Given the description of an element on the screen output the (x, y) to click on. 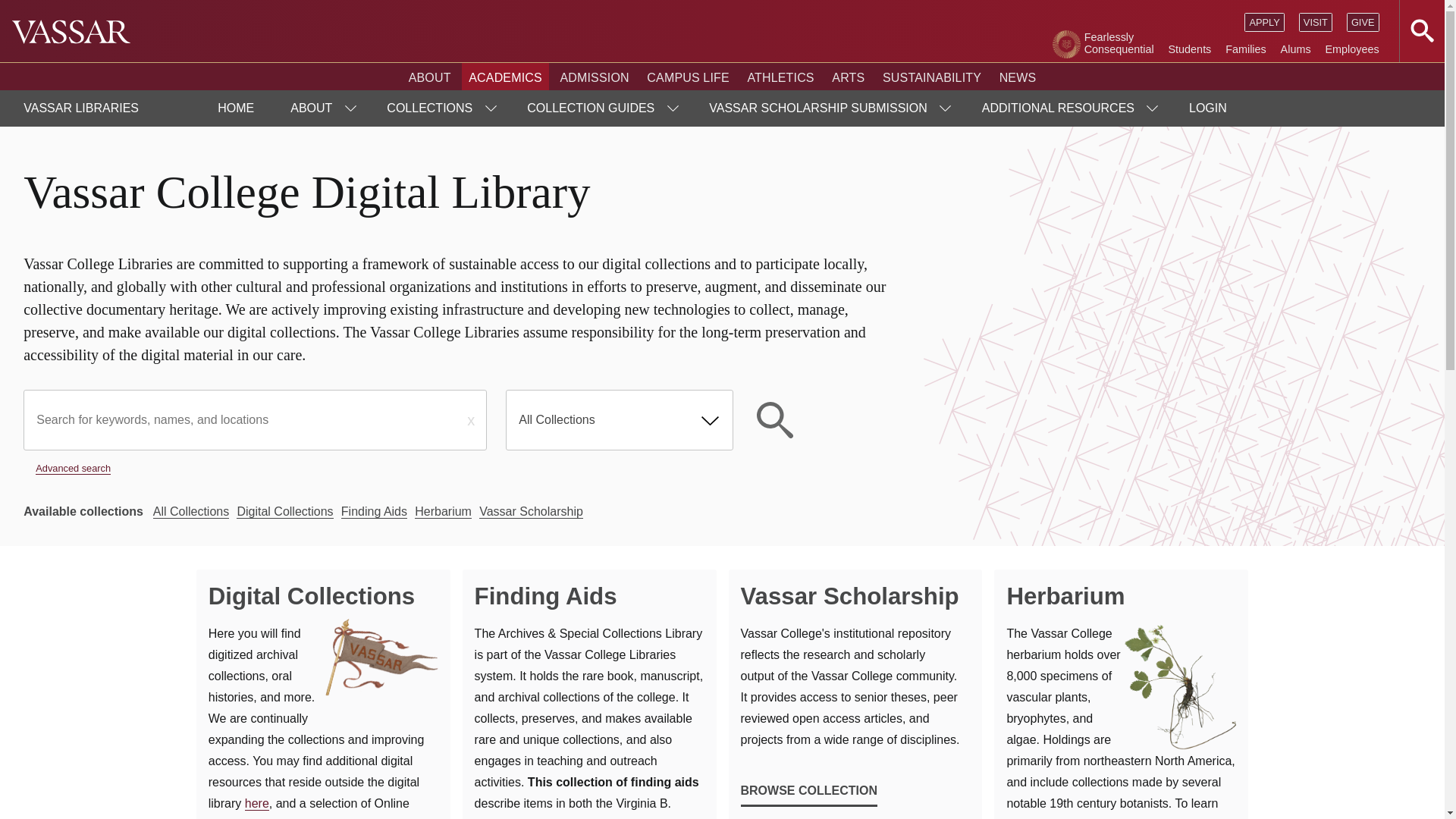
LOGIN (1207, 108)
Digital Collections (323, 595)
x (470, 419)
IR Submission Docs and Form (826, 108)
ABOUT (320, 108)
ADDITIONAL RESOURCES (1066, 108)
All Collections (558, 419)
COLLECTIONS (438, 108)
HOME (235, 108)
Advanced search (72, 468)
Search (774, 420)
VASSAR SCHOLARSHIP SUBMISSION (826, 108)
COLLECTION GUIDES (599, 108)
Clear keywords (470, 419)
